Given the description of an element on the screen output the (x, y) to click on. 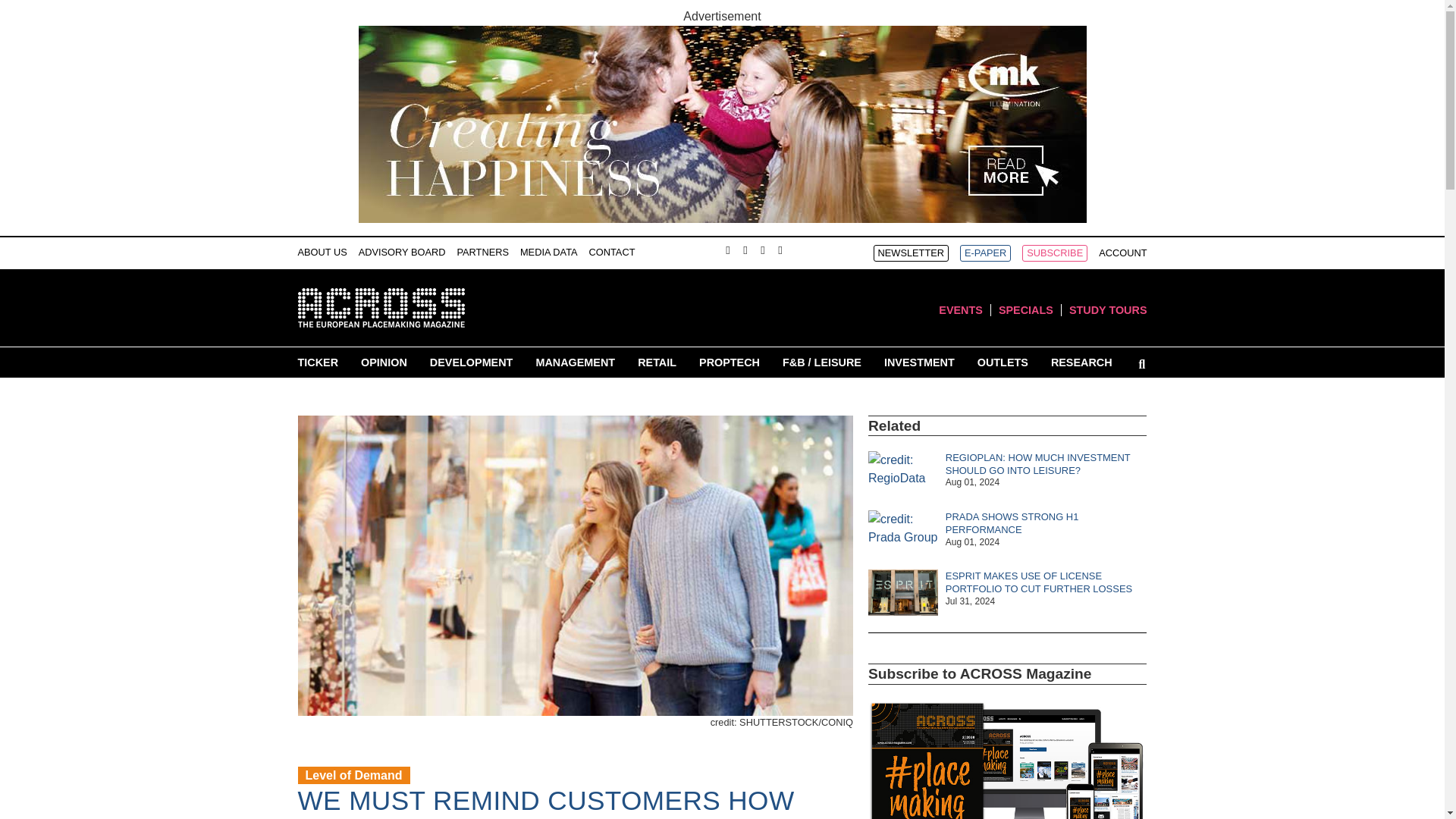
SPECIALS (1025, 309)
TICKER (317, 362)
CONTACT (611, 252)
SUBSCRIBE (1054, 252)
MEDIA DATA (548, 252)
PROPTECH (729, 362)
RETAIL (657, 362)
OPINION (384, 362)
INVESTMENT (919, 362)
OUTLETS (1001, 362)
